Given the description of an element on the screen output the (x, y) to click on. 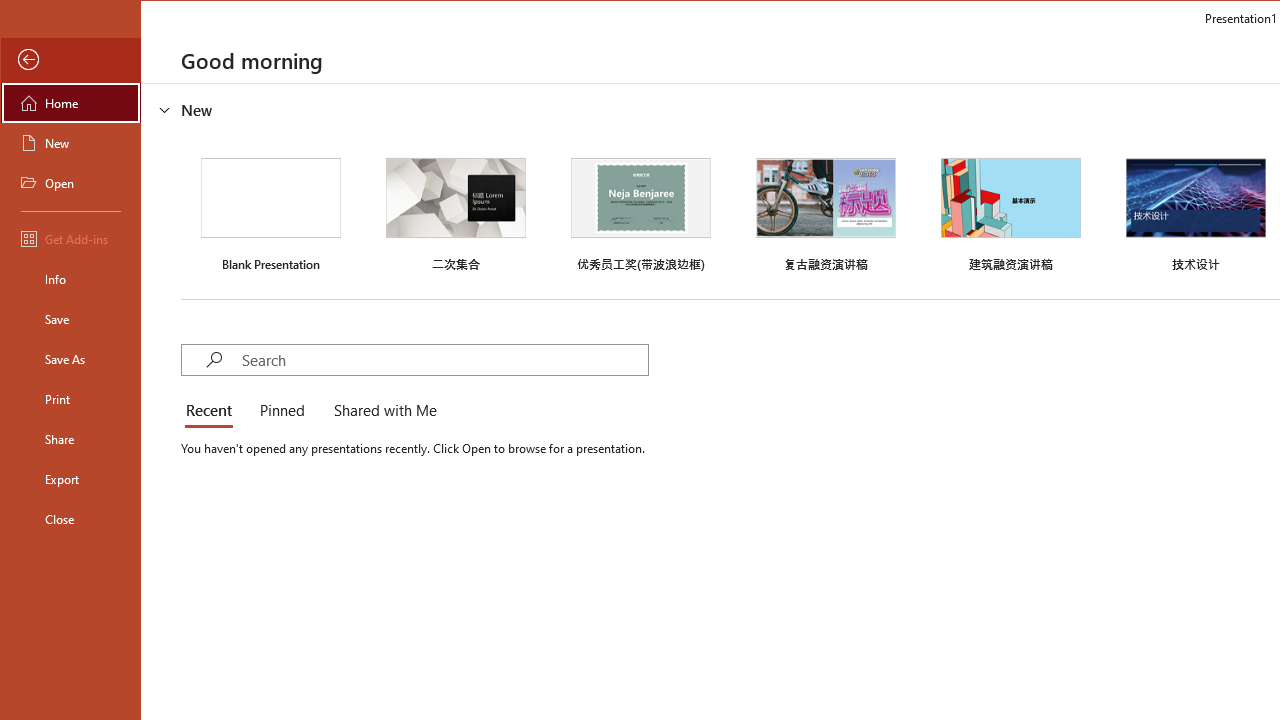
Shared with Me (381, 411)
Export (70, 478)
Back (70, 60)
Get Add-ins (70, 238)
New (70, 142)
Pinned (281, 411)
